Given the description of an element on the screen output the (x, y) to click on. 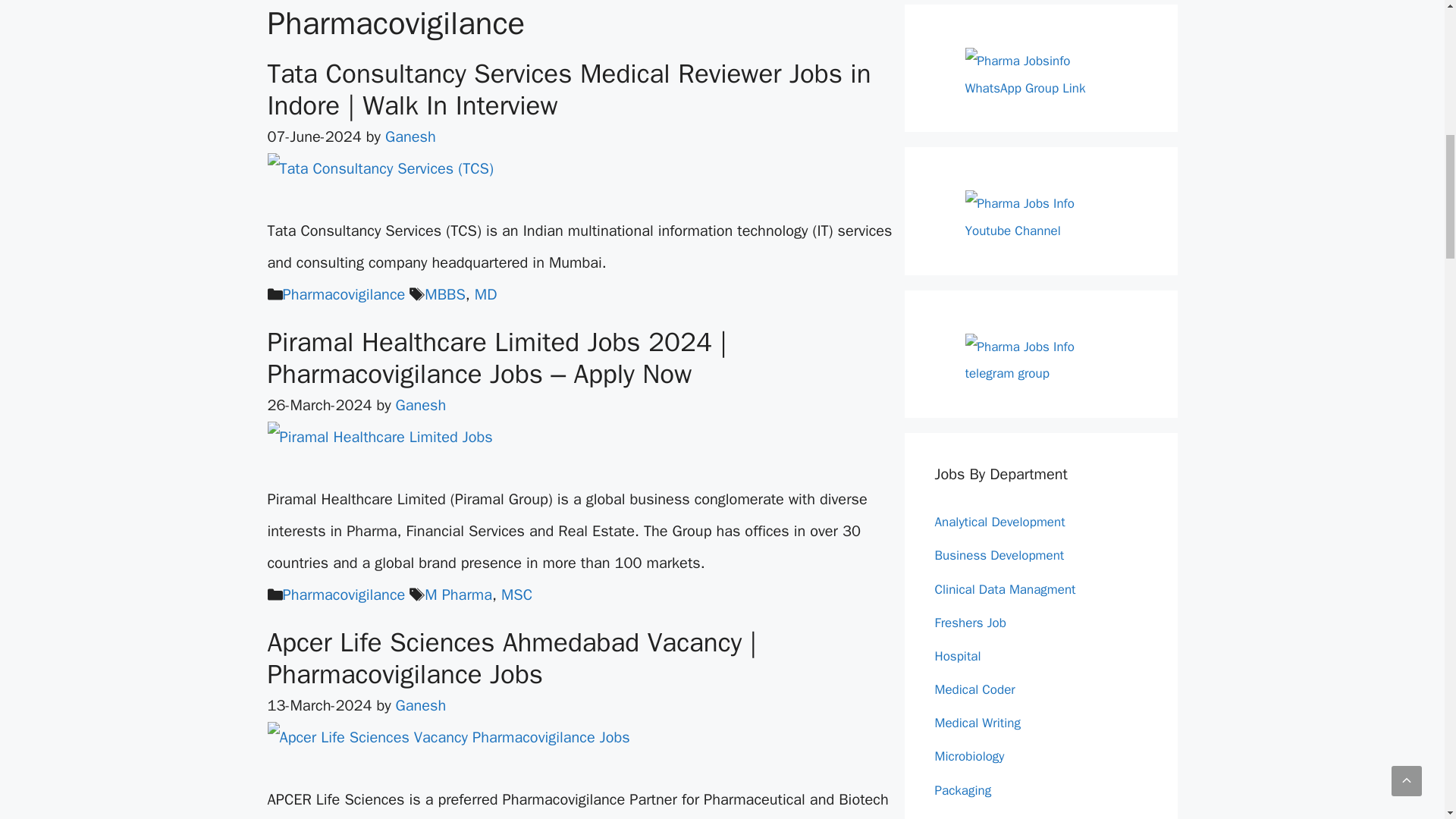
MBBS (445, 294)
Pharmacovigilance (343, 594)
Ganesh (421, 404)
Ganesh (421, 705)
View all posts by Ganesh (421, 404)
MD (485, 294)
MSC (516, 594)
Pharmacovigilance (343, 294)
View all posts by Ganesh (410, 136)
Ganesh (410, 136)
View all posts by Ganesh (421, 705)
M Pharma (458, 594)
